Given the description of an element on the screen output the (x, y) to click on. 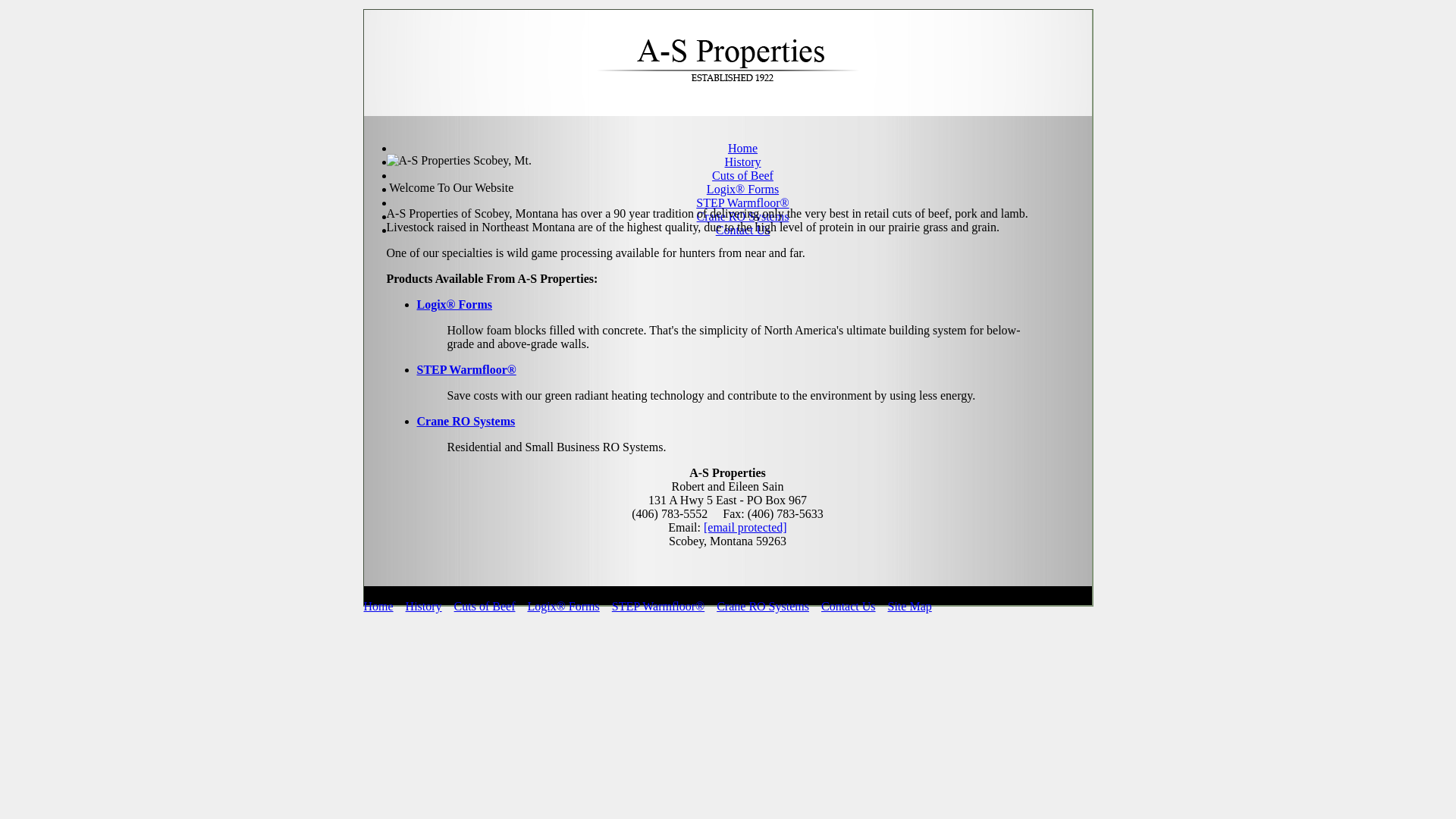
[email protected] Element type: text (745, 526)
Crane RO Systems Element type: text (466, 420)
Contact Us Element type: text (742, 229)
Cuts of Beef Element type: text (484, 605)
Crane RO Systems Element type: text (742, 216)
Crane RO Systems Element type: text (762, 605)
History Element type: text (742, 161)
Cuts of Beef Element type: text (742, 175)
Home Element type: text (742, 147)
Contact Us Element type: text (848, 605)
Site Map Element type: text (909, 605)
Home Element type: text (378, 605)
History Element type: text (423, 605)
